Given the description of an element on the screen output the (x, y) to click on. 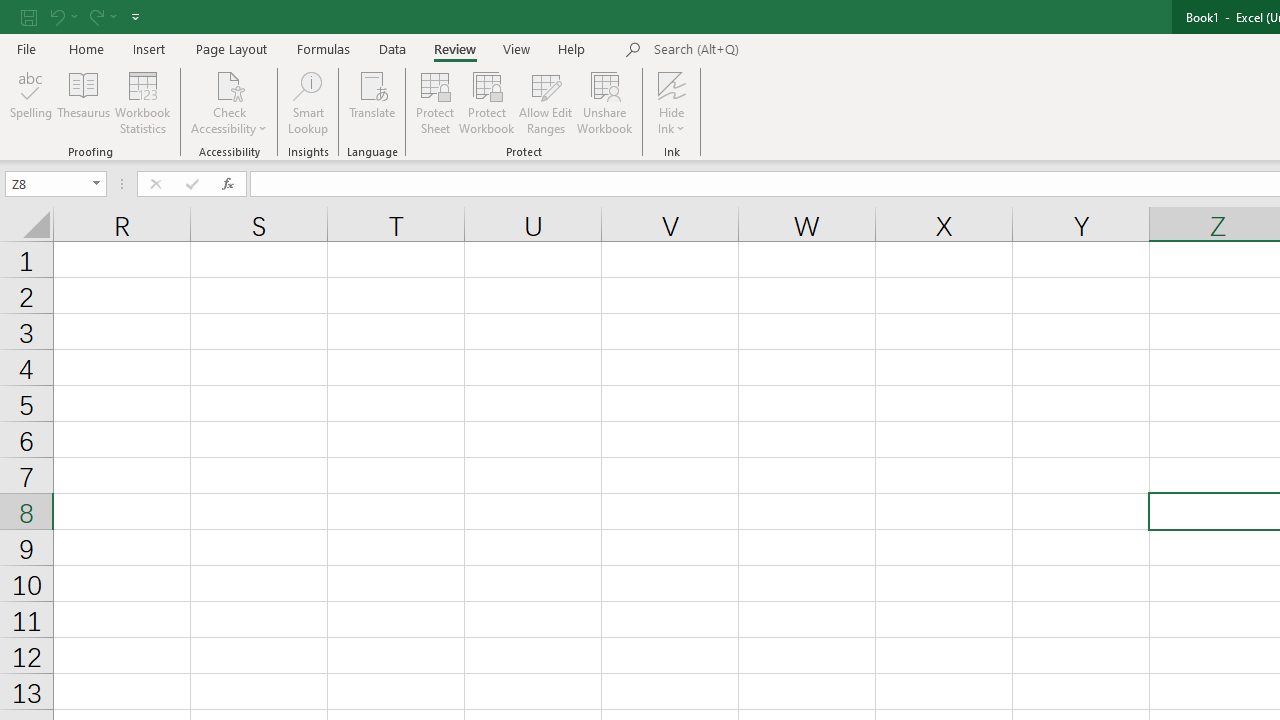
Smart Lookup (308, 102)
Protect Workbook... (486, 102)
Unshare Workbook (604, 102)
Customize Quick Access Toolbar (135, 15)
Translate (372, 102)
Spelling... (31, 102)
Redo (95, 15)
Help (572, 48)
Undo (56, 15)
Page Layout (230, 48)
Open (96, 183)
Hide Ink (671, 102)
View (517, 48)
Undo (62, 15)
Name Box (46, 183)
